Given the description of an element on the screen output the (x, y) to click on. 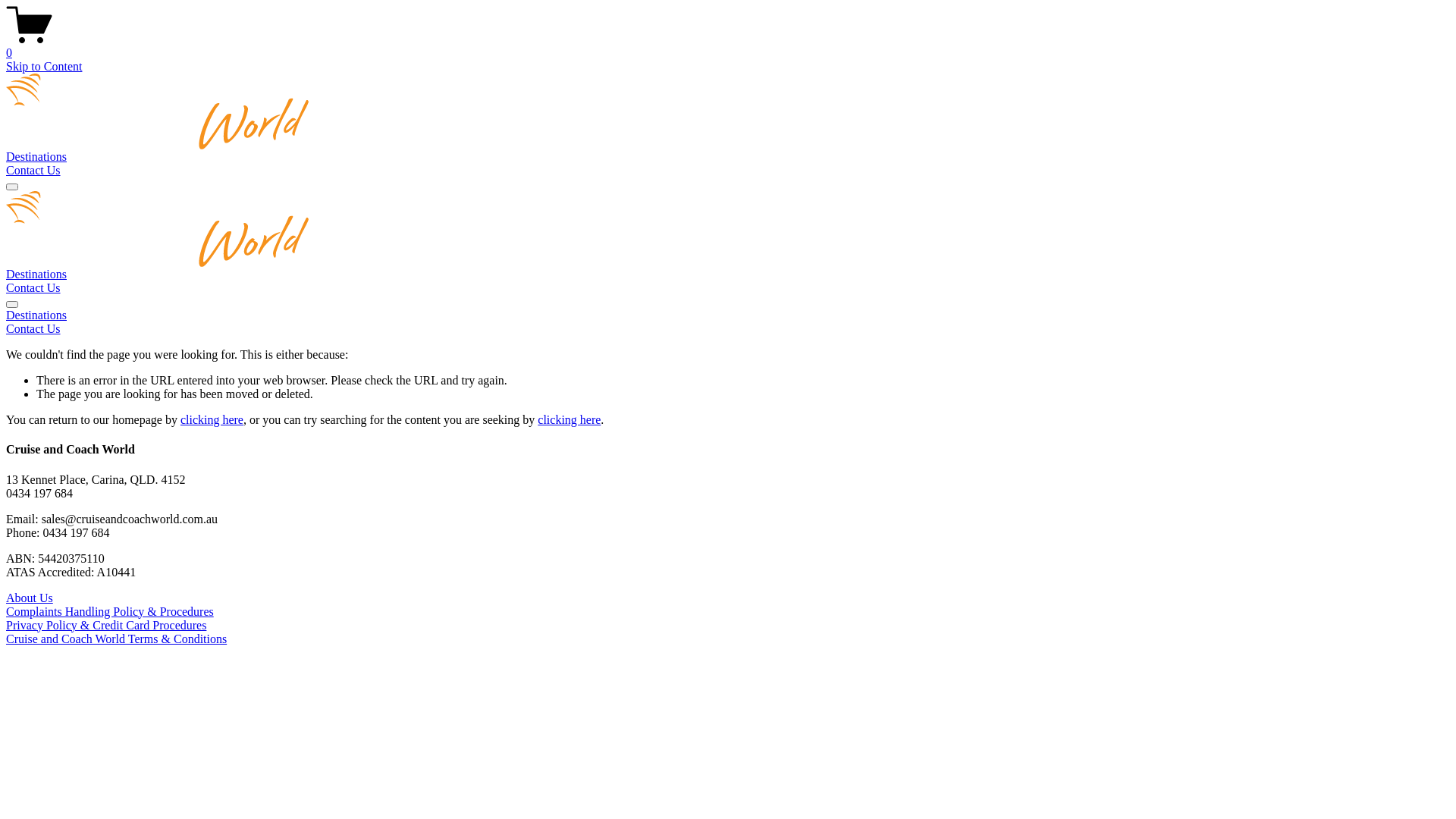
clicking here Element type: text (211, 419)
Privacy Policy & Credit Card Procedures Element type: text (106, 624)
Contact Us Element type: text (33, 169)
Contact Us Element type: text (727, 328)
Destinations Element type: text (727, 315)
About Us Element type: text (29, 597)
0 Element type: text (727, 45)
Complaints Handling Policy & Procedures Element type: text (109, 611)
Contact Us Element type: text (33, 287)
Cruise and Coach World Terms & Conditions Element type: text (116, 638)
clicking here Element type: text (568, 419)
Destinations Element type: text (36, 156)
Destinations Element type: text (36, 273)
Skip to Content Element type: text (43, 65)
